Given the description of an element on the screen output the (x, y) to click on. 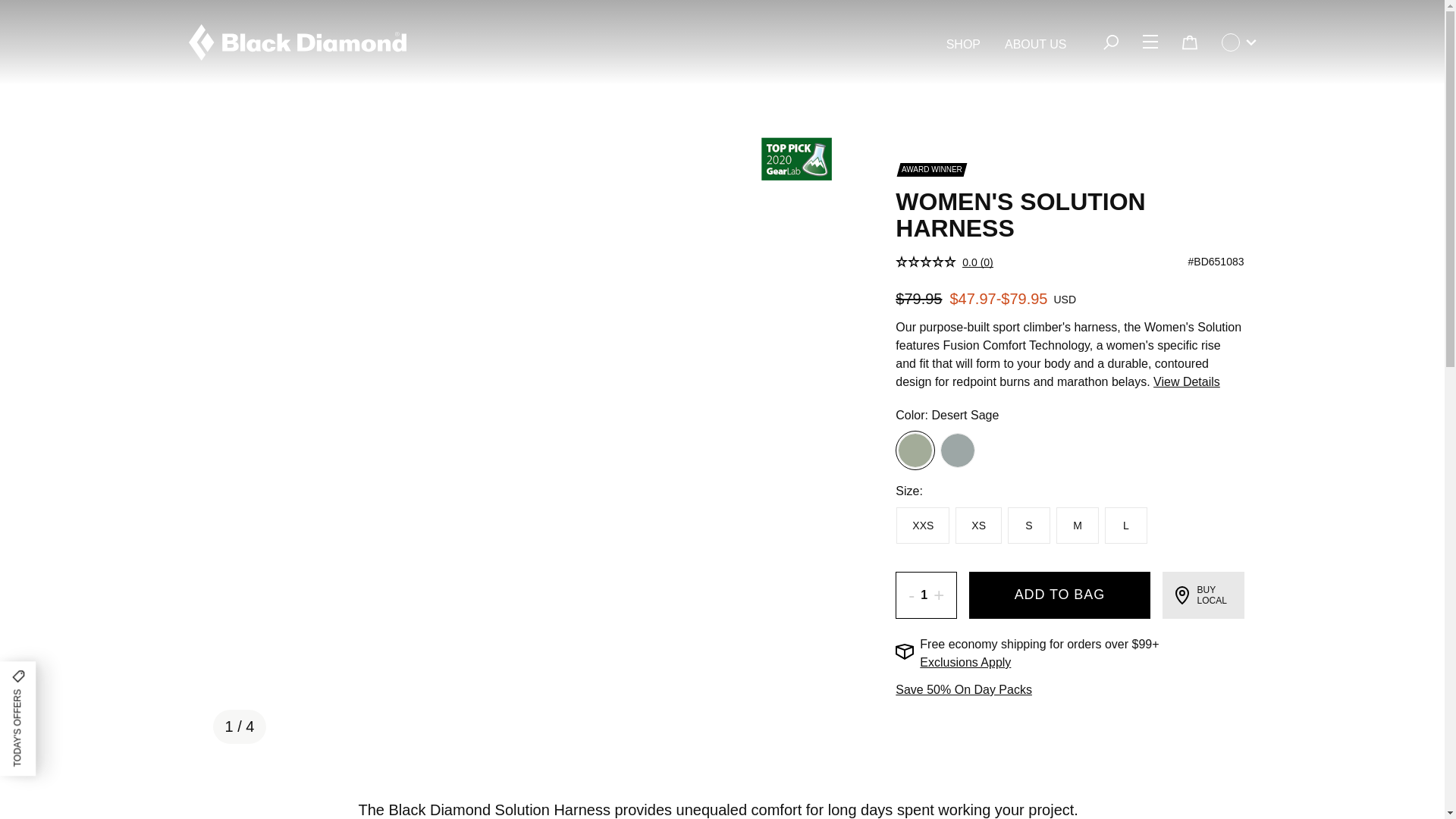
Black Diamond (296, 42)
Pewter  (956, 450)
M  (1078, 524)
XS  (978, 524)
XXS  (922, 524)
S  (1028, 524)
L  (1126, 524)
CART (1188, 42)
Desert Sage  (914, 450)
ABOUT US (1035, 44)
Black Diamond (296, 42)
Change Locale (1238, 42)
SHOP (963, 44)
